Given the description of an element on the screen output the (x, y) to click on. 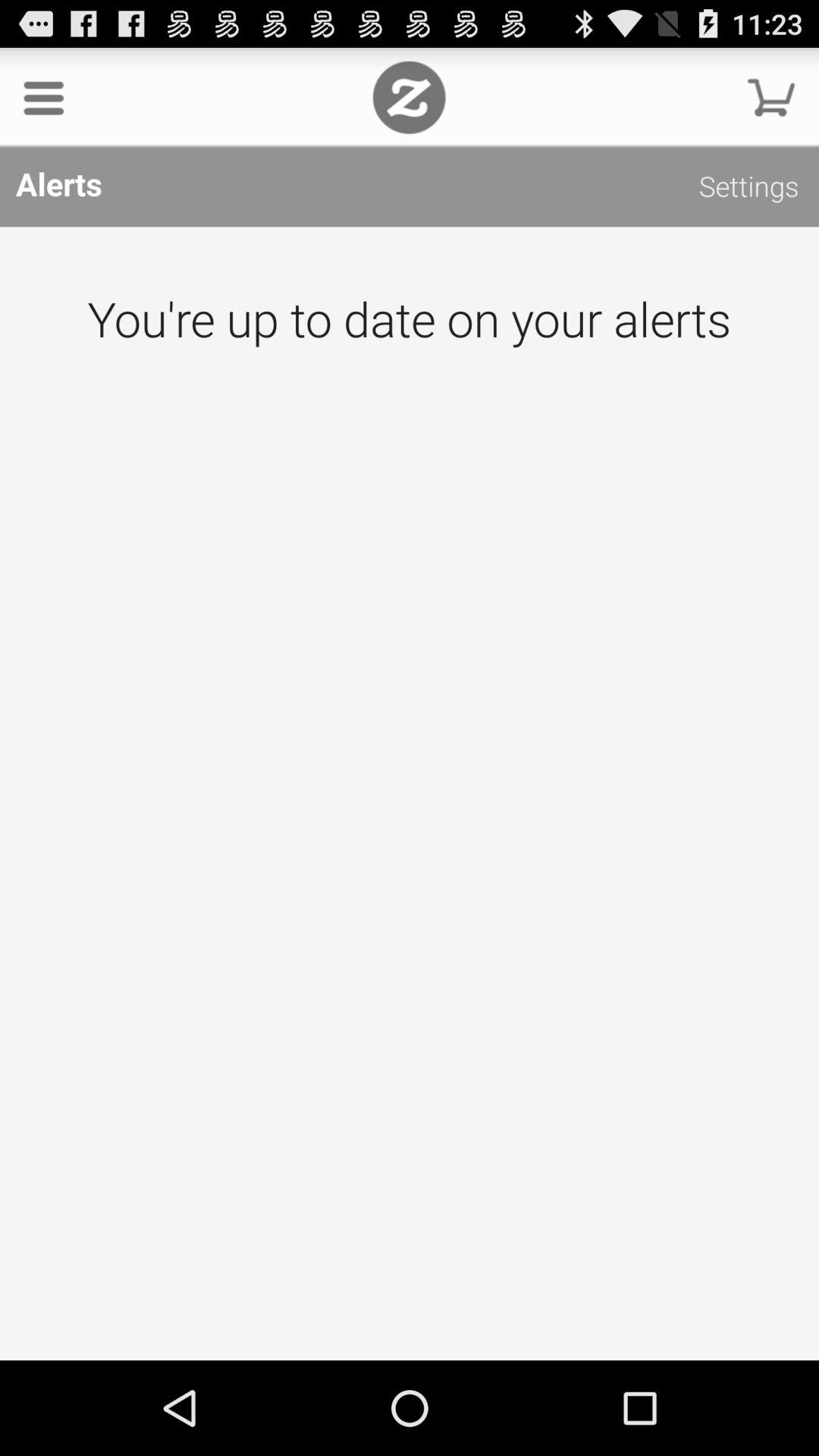
shopping cart (771, 97)
